Given the description of an element on the screen output the (x, y) to click on. 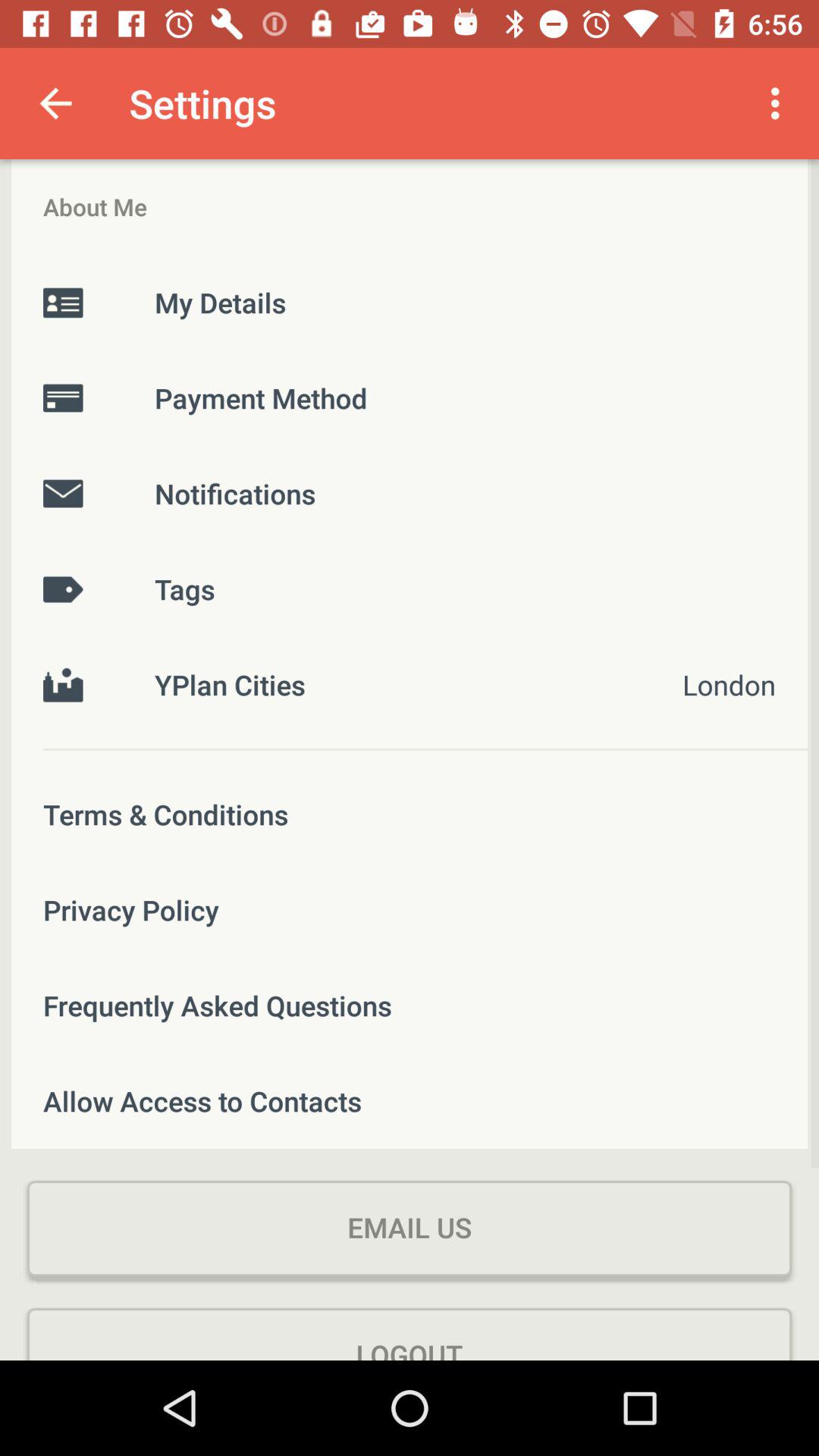
turn off the allow access to (409, 1100)
